Given the description of an element on the screen output the (x, y) to click on. 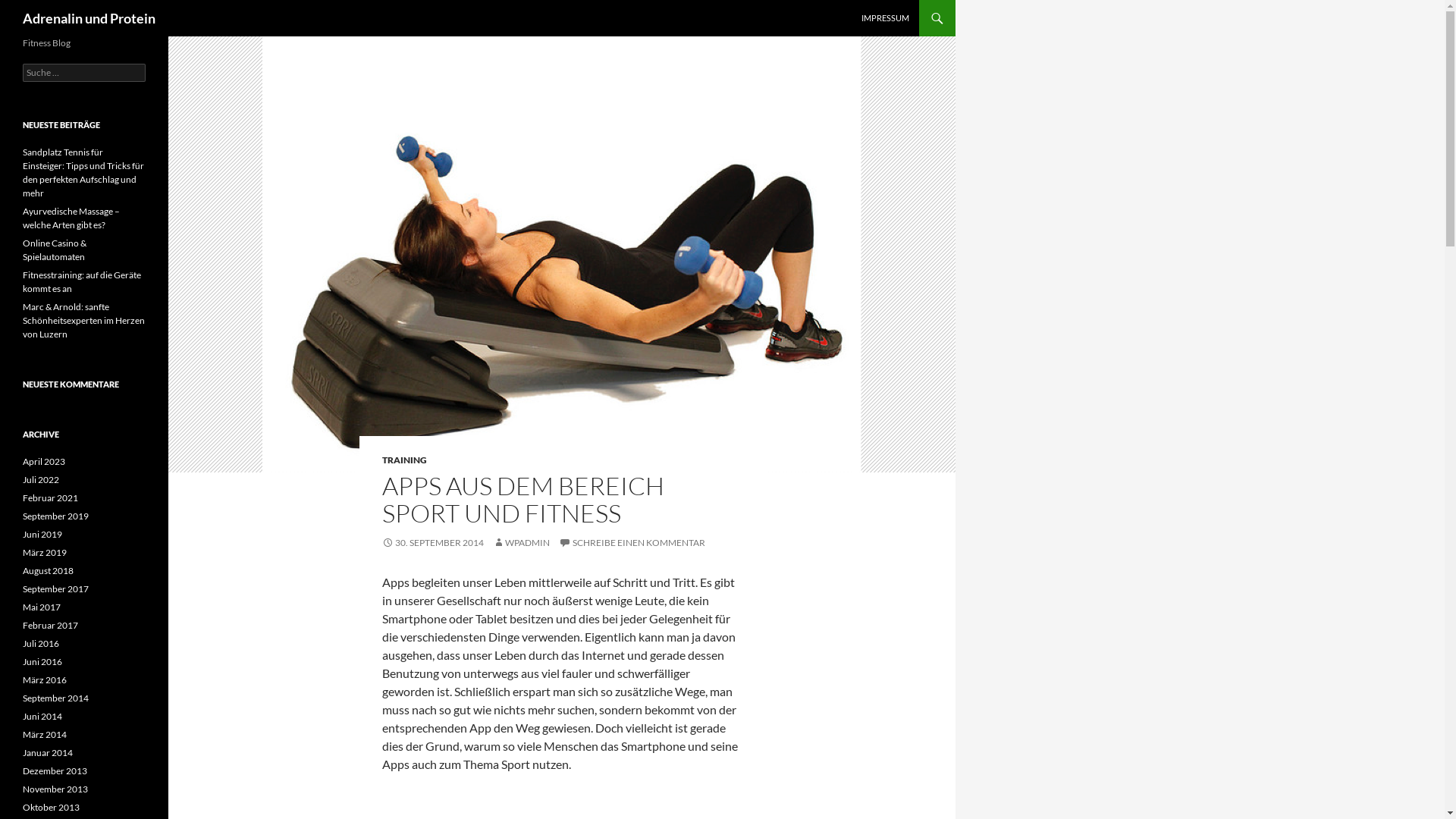
Juni 2016 Element type: text (42, 661)
April 2023 Element type: text (43, 461)
Juni 2019 Element type: text (42, 533)
September 2014 Element type: text (55, 697)
30. SEPTEMBER 2014 Element type: text (432, 542)
Dezember 2013 Element type: text (54, 770)
August 2018 Element type: text (47, 570)
Februar 2017 Element type: text (50, 624)
September 2019 Element type: text (55, 515)
Februar 2021 Element type: text (50, 497)
Juli 2022 Element type: text (40, 479)
IMPRESSUM Element type: text (885, 18)
Oktober 2013 Element type: text (50, 806)
Mai 2017 Element type: text (41, 606)
Adrenalin und Protein Element type: text (88, 18)
November 2013 Element type: text (54, 788)
SCHREIBE EINEN KOMMENTAR Element type: text (631, 542)
TRAINING Element type: text (404, 459)
WPADMIN Element type: text (520, 542)
Januar 2014 Element type: text (47, 752)
Juli 2016 Element type: text (40, 643)
Suche Element type: text (26, 9)
September 2017 Element type: text (55, 588)
Juni 2014 Element type: text (42, 715)
Online Casino & Spielautomaten Element type: text (54, 249)
